Given the description of an element on the screen output the (x, y) to click on. 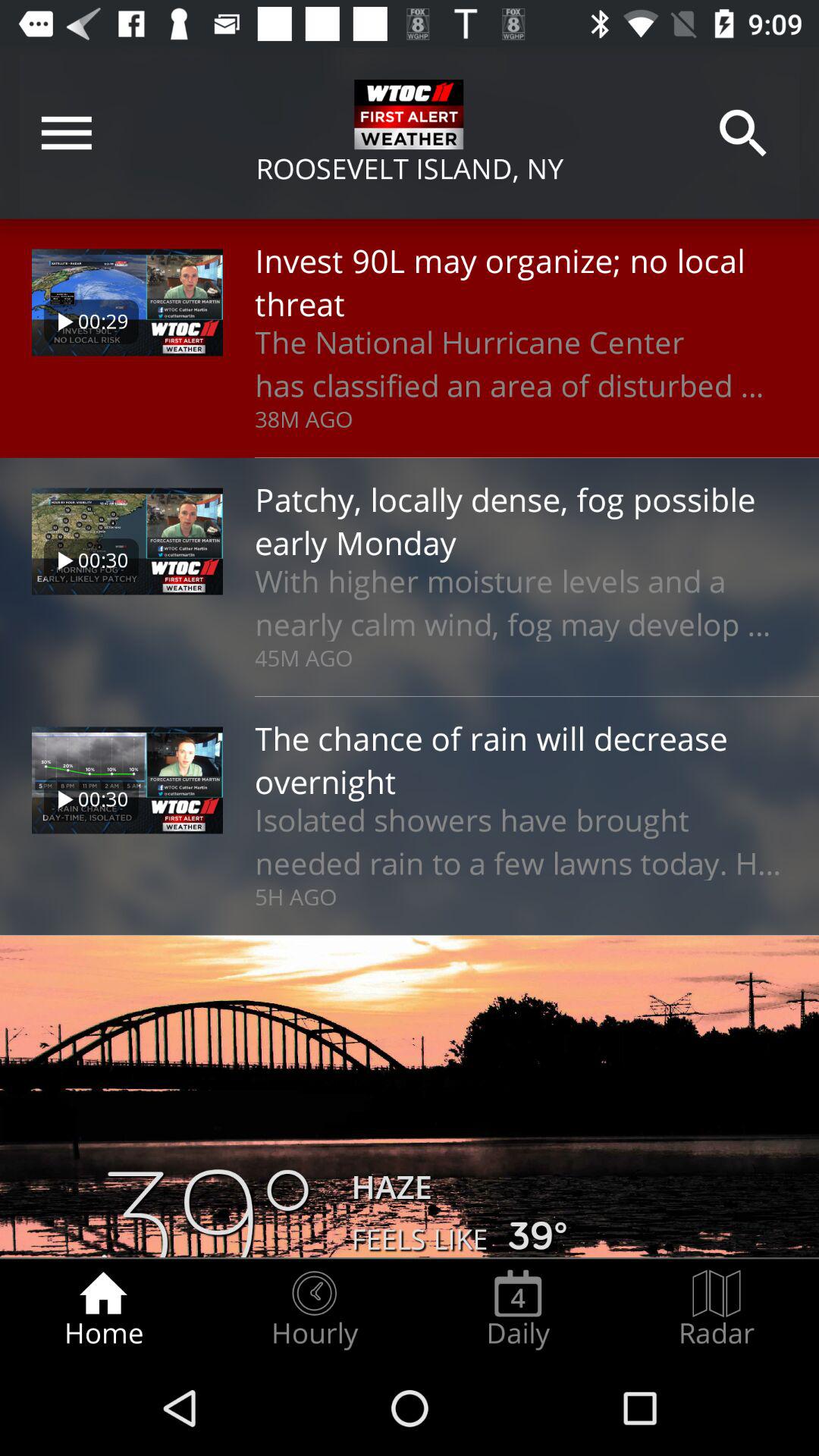
select the icon next to daily (716, 1309)
